Given the description of an element on the screen output the (x, y) to click on. 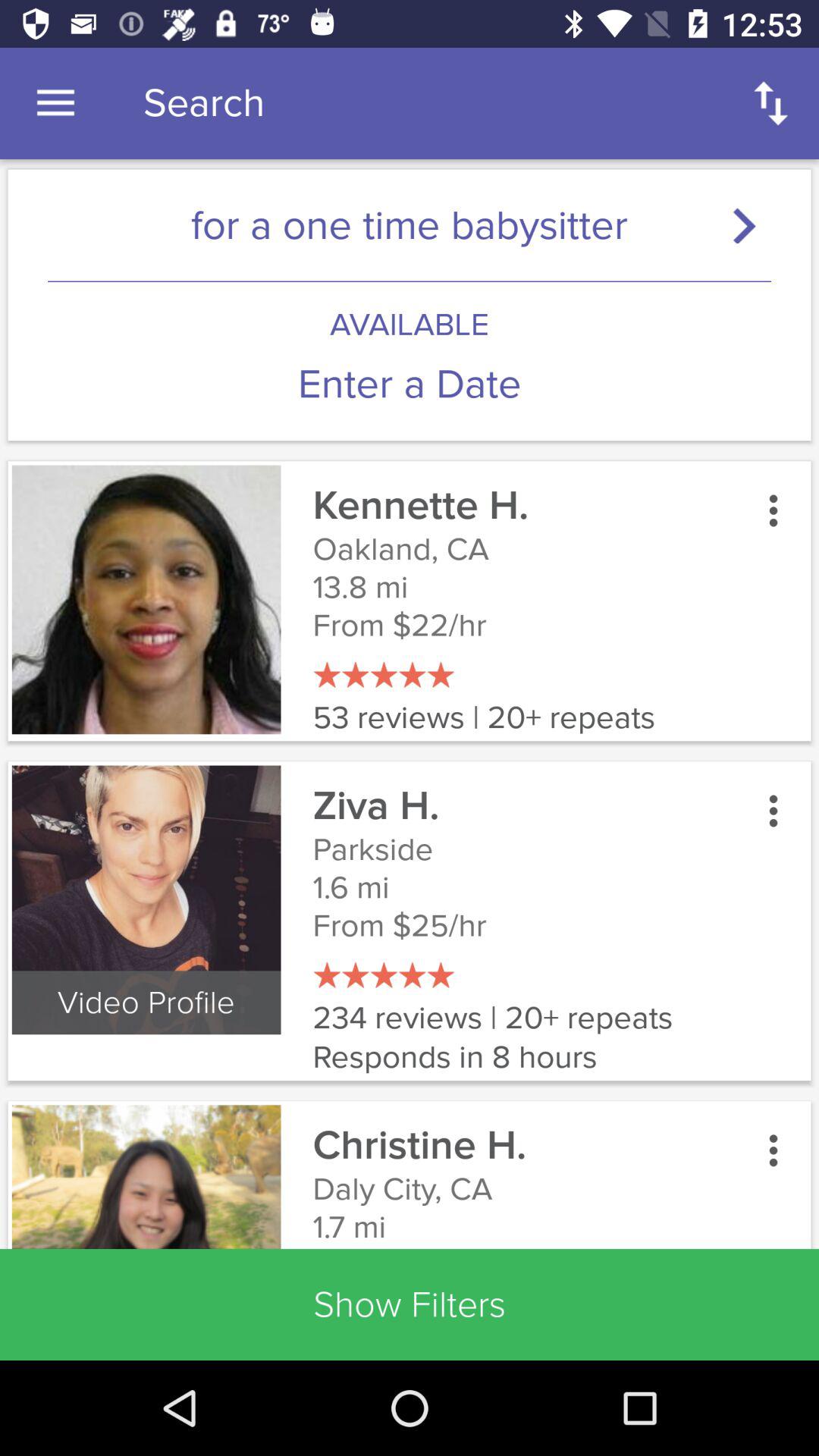
turn off item below available icon (409, 384)
